Given the description of an element on the screen output the (x, y) to click on. 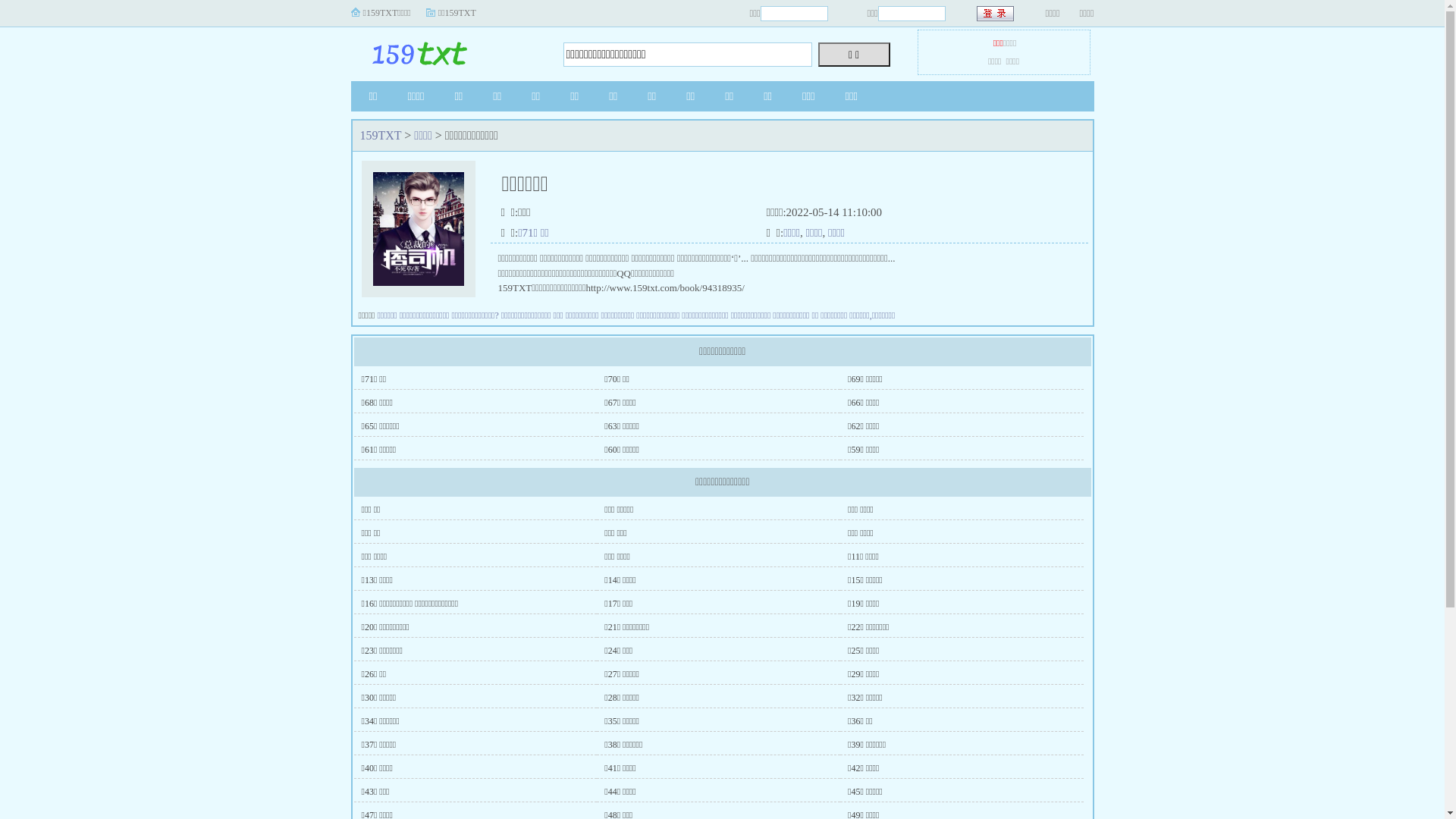
159TXT Element type: text (380, 134)
  Element type: text (995, 13)
159TXT Element type: text (444, 49)
